Given the description of an element on the screen output the (x, y) to click on. 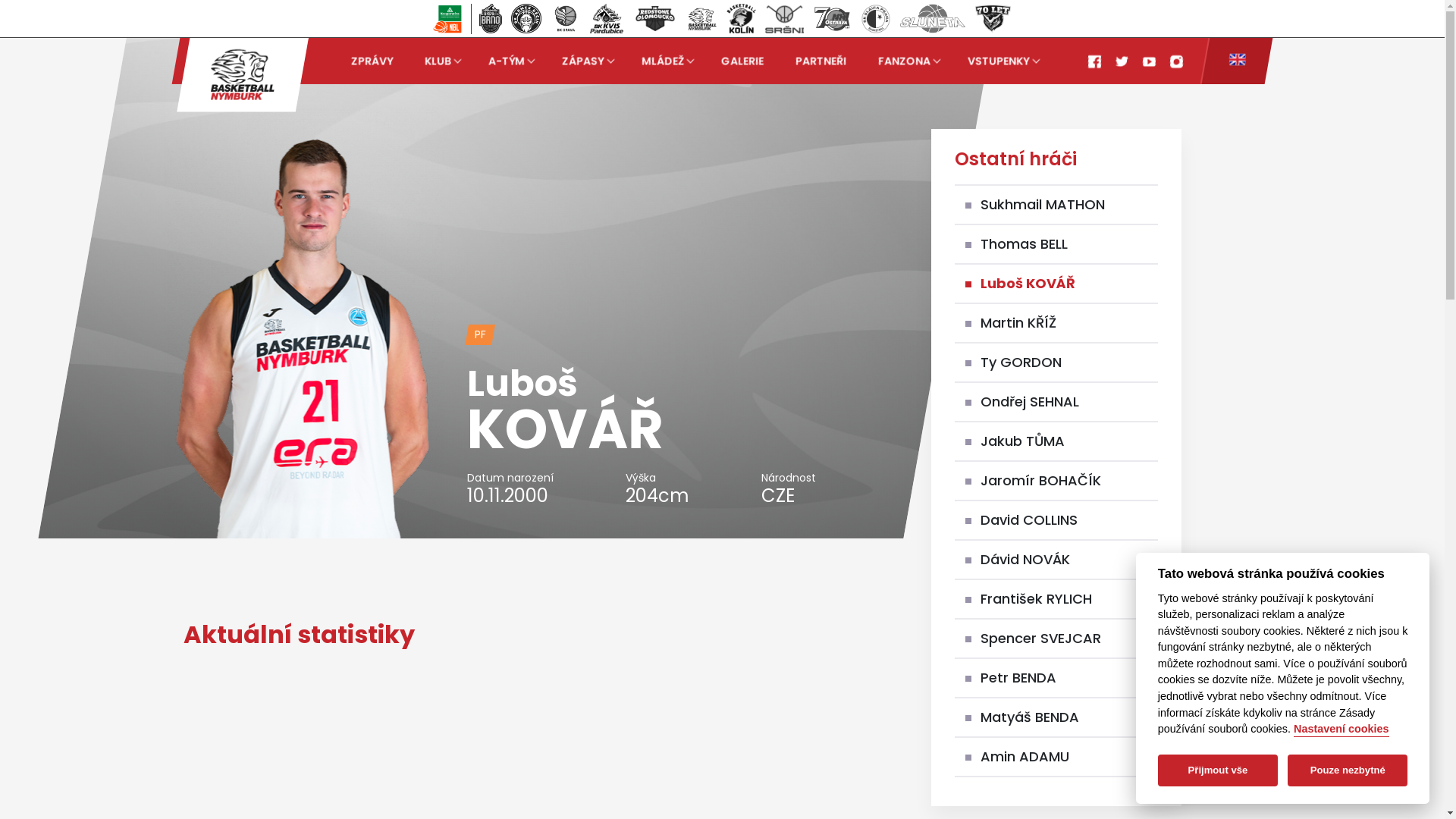
David COLLINS Element type: text (1028, 519)
VSTUPENKY Element type: text (1001, 61)
Ty GORDON Element type: text (1020, 361)
Basket Brno (1.) Element type: hover (489, 18)
SK Slavia Praha (10.) Element type: hover (875, 18)
NH Ostrava(9.) Element type: hover (832, 18)
FANZONA Element type: text (906, 61)
Amin ADAMU Element type: text (1024, 755)
BK Opava(3.) Element type: hover (565, 18)
GALERIE Element type: text (742, 61)
Basketball Nymburk (6.) Element type: hover (701, 18)
USK Praha (12.) Element type: hover (992, 18)
Petr BENDA Element type: text (1018, 677)
Thomas BELL Element type: text (1023, 243)
BK KVIS Pardubice (4.) Element type: hover (606, 18)
Spencer SVEJCAR Element type: text (1040, 637)
Sukhmail MATHON Element type: text (1042, 203)
KLUB Element type: text (440, 61)
BK Redstone Olomoucko (5.) Element type: hover (654, 18)
